Given the description of an element on the screen output the (x, y) to click on. 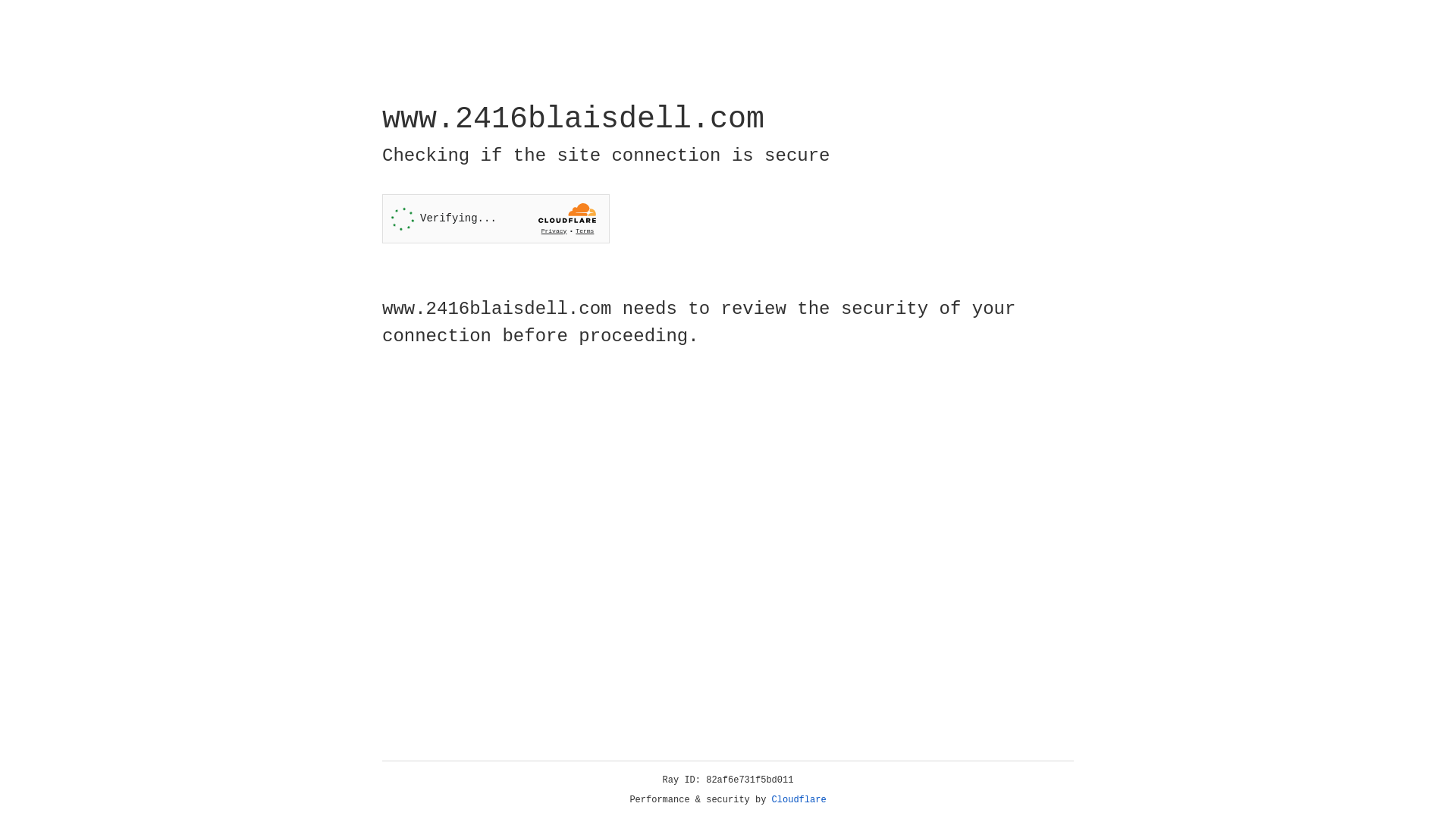
Cloudflare Element type: text (798, 799)
Widget containing a Cloudflare security challenge Element type: hover (495, 218)
